Given the description of an element on the screen output the (x, y) to click on. 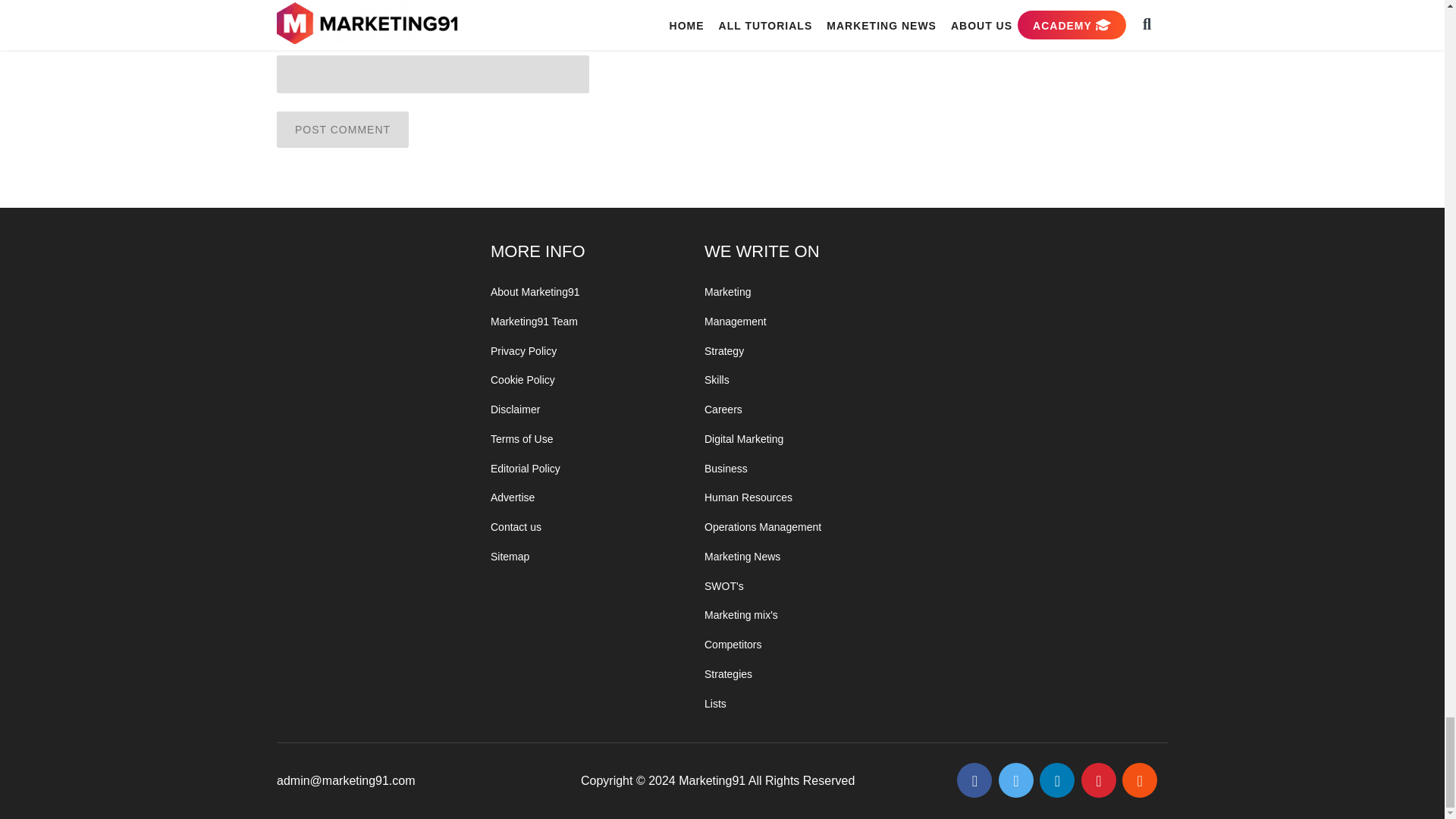
Post Comment (342, 129)
